Given the description of an element on the screen output the (x, y) to click on. 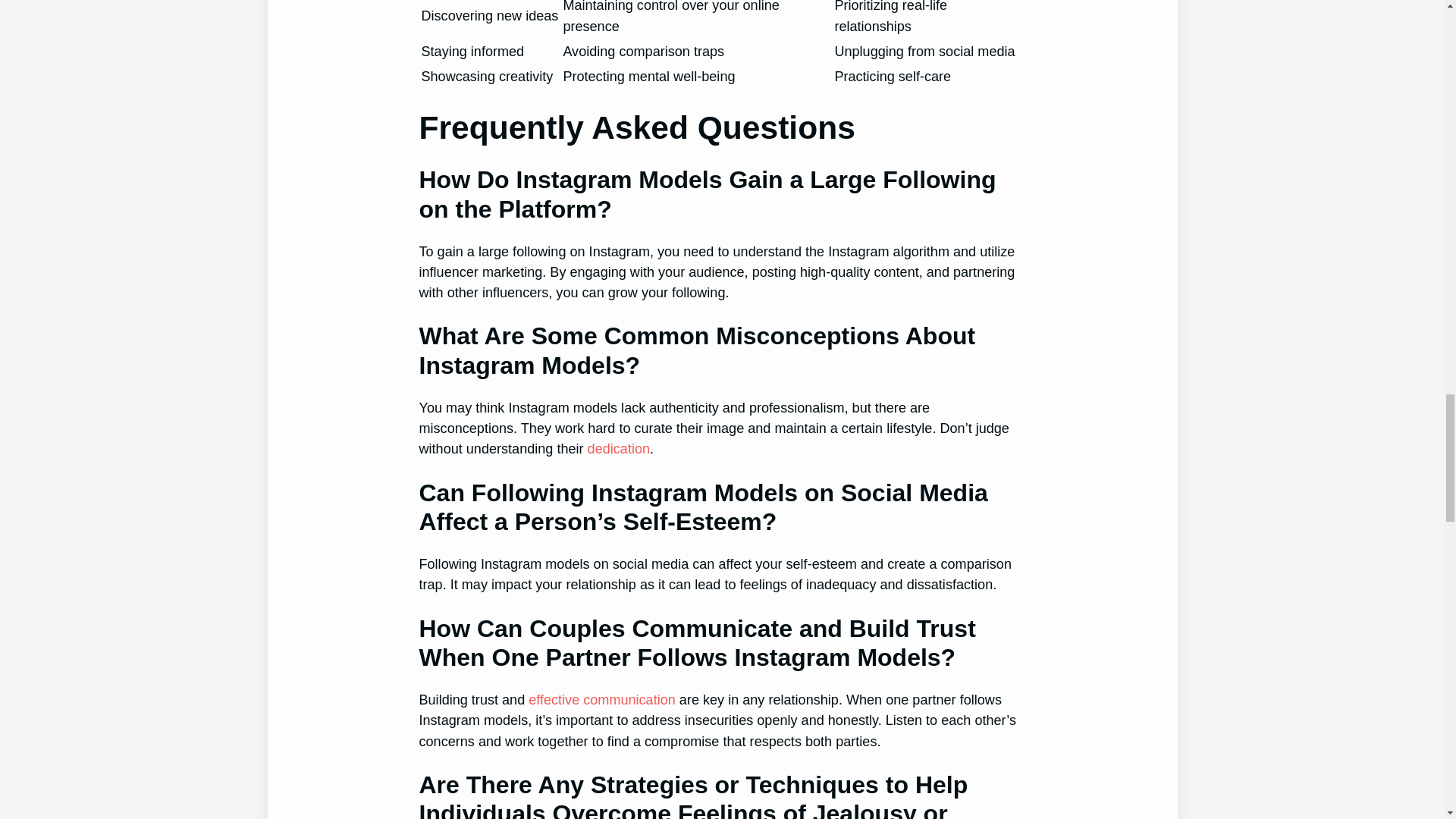
dedication (618, 448)
dedication (618, 448)
effective communication (601, 699)
effective communication (601, 699)
